Given the description of an element on the screen output the (x, y) to click on. 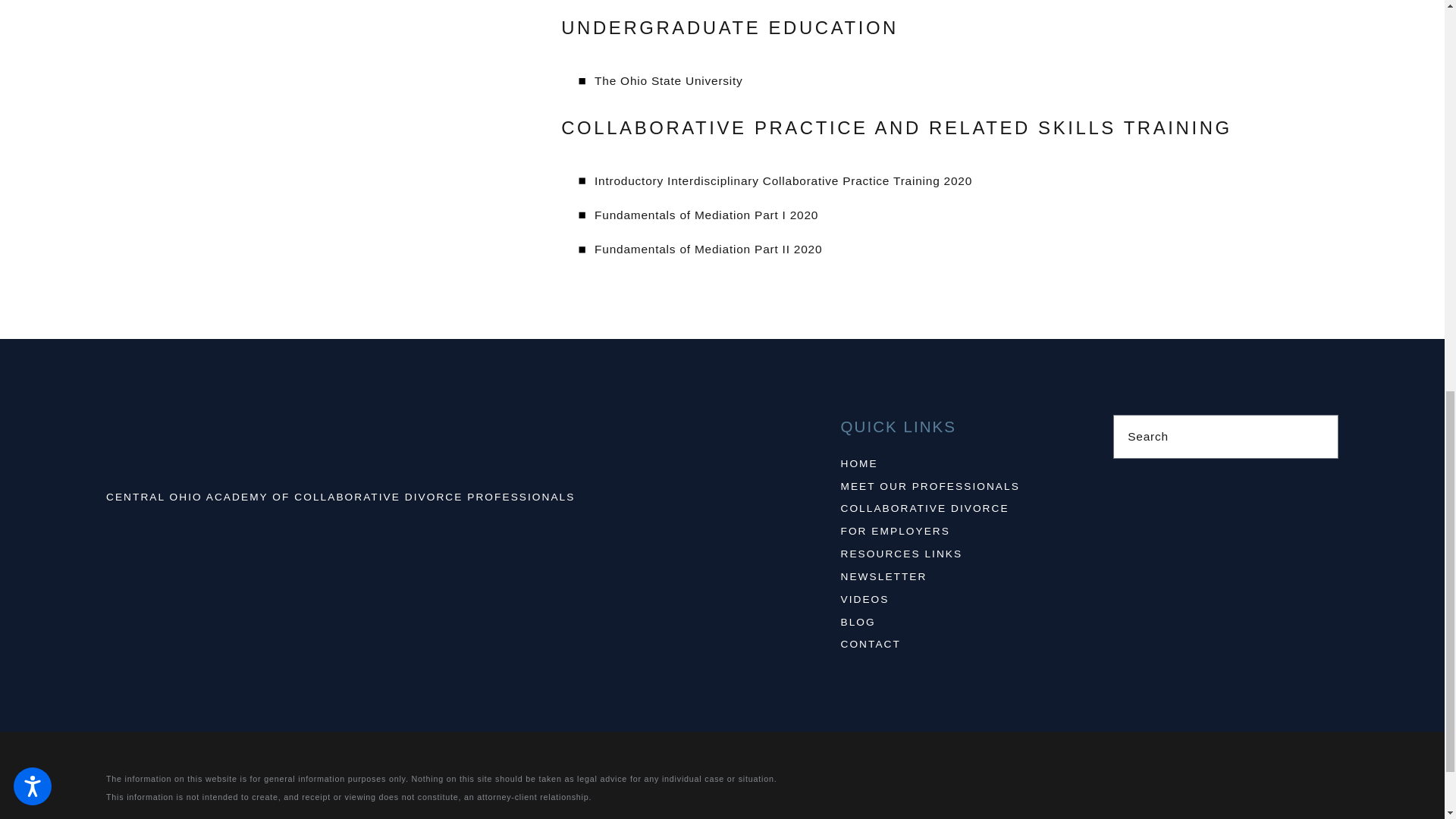
Search Icon (1318, 436)
Search Our Site (1318, 436)
